Given the description of an element on the screen output the (x, y) to click on. 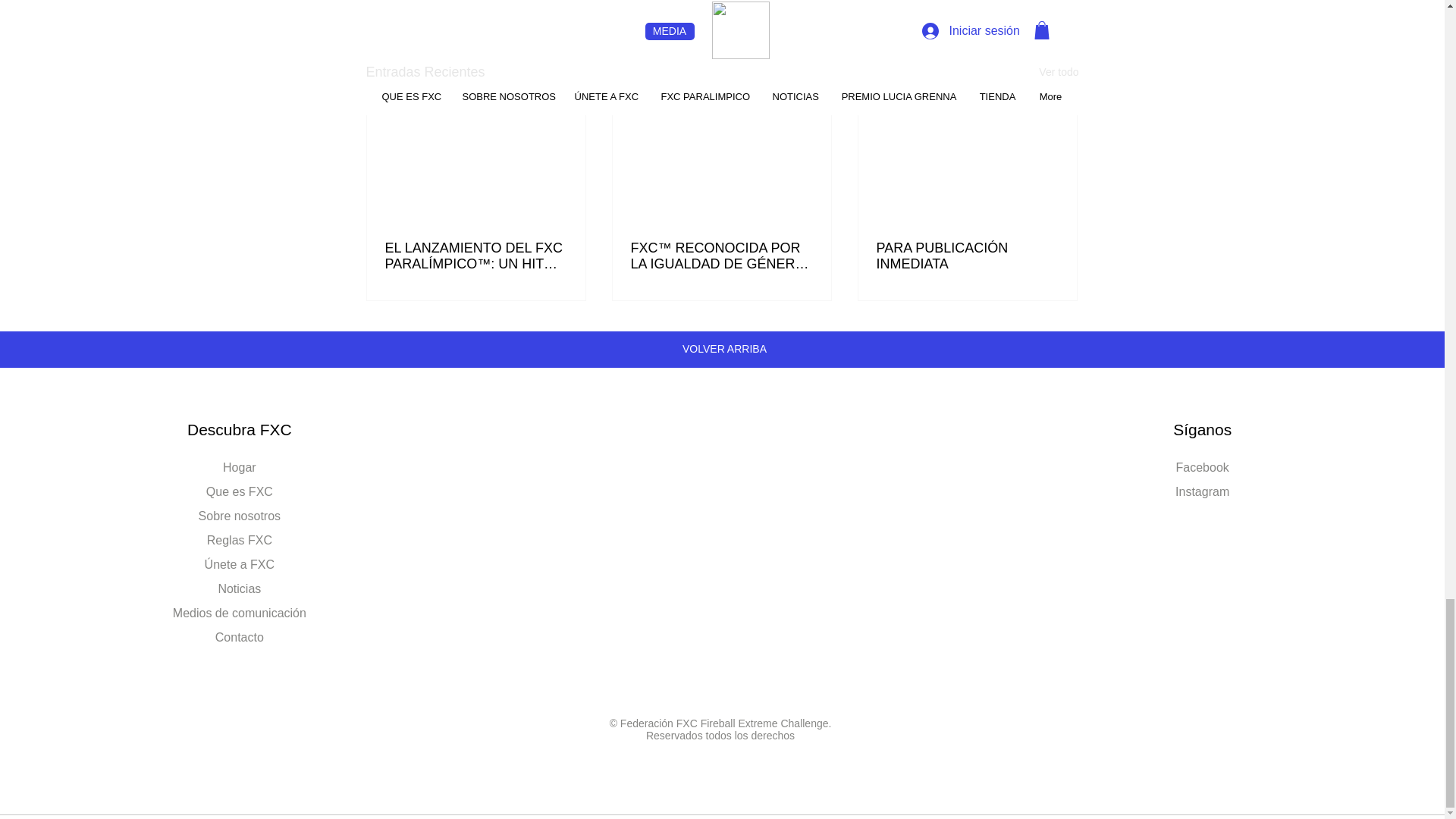
Sobre nosotros (239, 515)
Hogar (239, 467)
Reglas FXC (239, 540)
Ver todo (1058, 72)
VOLVER ARRIBA (724, 348)
Que es FXC (239, 491)
Noticias (238, 588)
Contacto (239, 636)
